Given the description of an element on the screen output the (x, y) to click on. 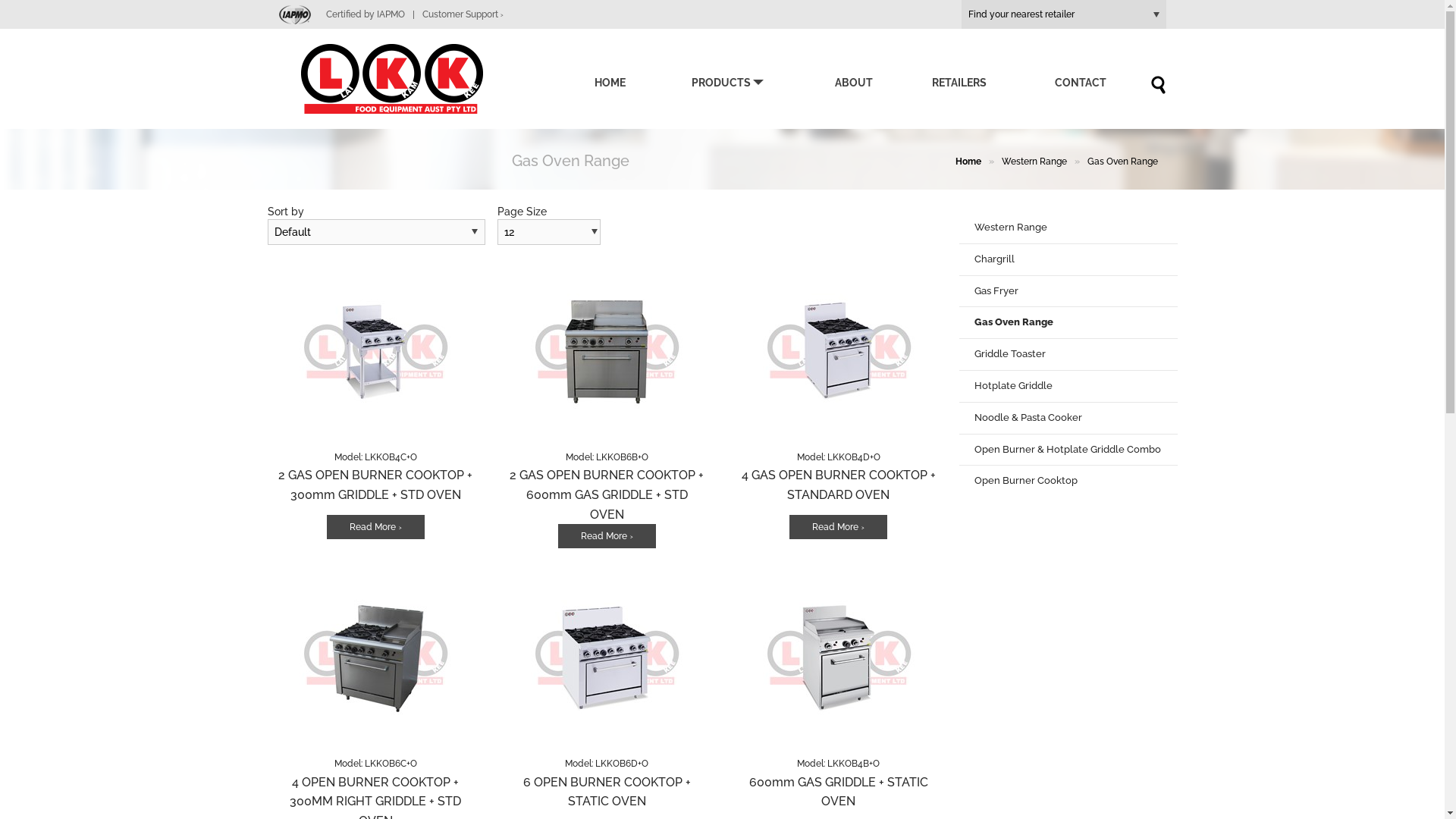
Hotplate Griddle Element type: text (1067, 385)
Read More  > Element type: text (838, 526)
Griddle Toaster Element type: text (1067, 354)
ABOUT Element type: text (852, 82)
Western Range Element type: text (1067, 227)
HOME Element type: text (610, 82)
Gas Fryer Element type: text (1067, 291)
Read More  > Element type: text (375, 526)
Open Burner Cooktop Element type: text (1067, 480)
Gas Oven Range Element type: text (1122, 161)
PRODUCTS Element type: text (727, 82)
RETAILERS Element type: text (959, 82)
Open Burner & Hotplate Griddle Combo Element type: text (1067, 449)
Read More  > Element type: text (606, 536)
  Element type: text (937, 229)
Noodle & Pasta Cooker Element type: text (1067, 417)
Gas Oven Range Element type: text (1067, 322)
Certified by IAPMO| Element type: text (350, 14)
Chargrill Element type: text (1067, 259)
LKK Element type: text (414, 78)
CONTACT Element type: text (1080, 82)
Customer Support > Element type: text (461, 13)
Western Range Element type: text (1034, 161)
Home Element type: text (966, 161)
